Given the description of an element on the screen output the (x, y) to click on. 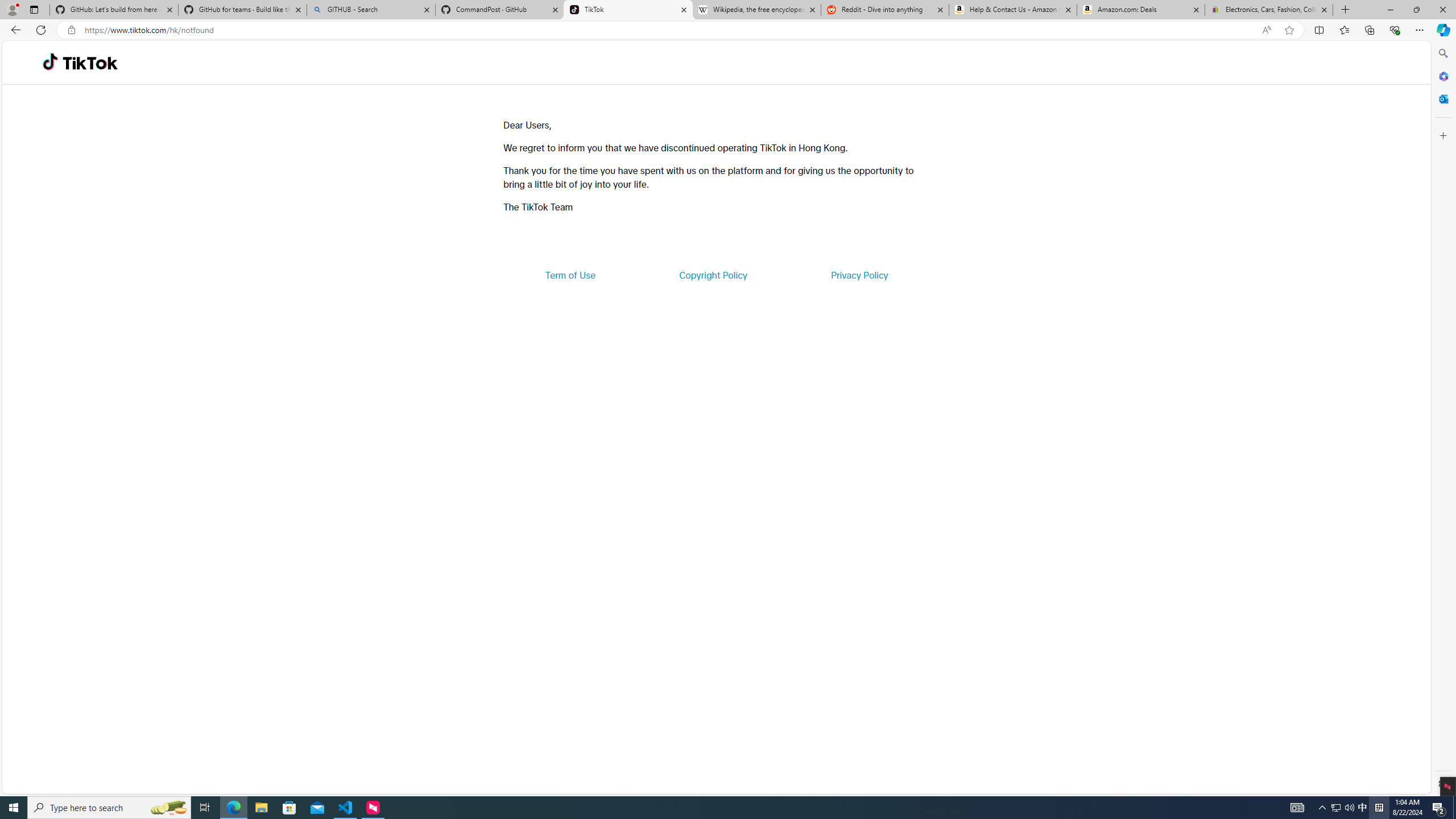
Electronics, Cars, Fashion, Collectibles & More | eBay (1268, 9)
Wikipedia, the free encyclopedia (756, 9)
TikTok (628, 9)
